Given the description of an element on the screen output the (x, y) to click on. 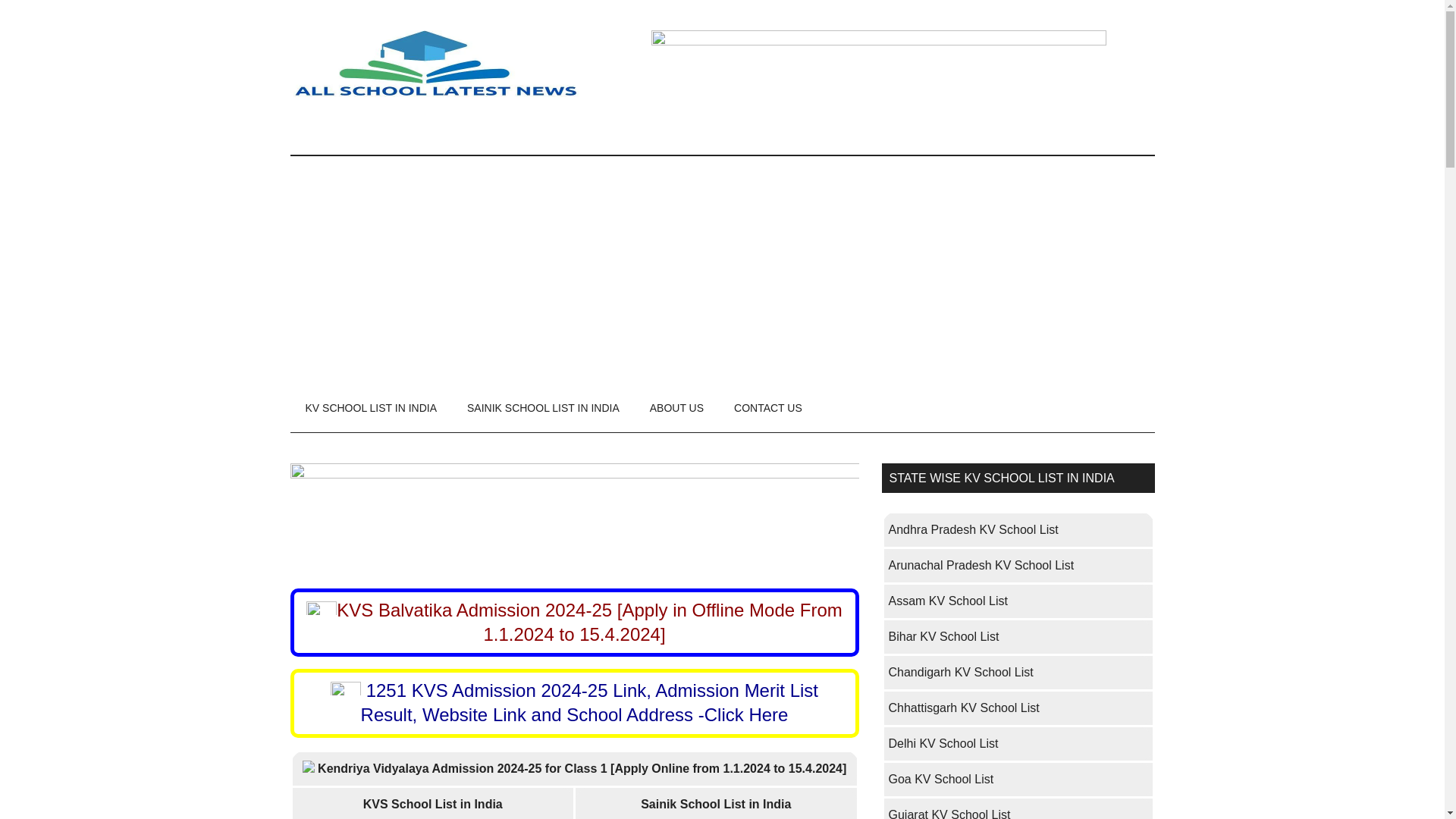
ABOUT US (676, 408)
Bihar KV School List (943, 635)
Sainik School List in India (715, 803)
Arunachal Pradesh KV School List (981, 564)
KV SCHOOL LIST IN INDIA (370, 408)
Andhra Pradesh KV School List  (975, 529)
All School Latest News (433, 64)
SAINIK SCHOOL LIST IN INDIA (542, 408)
CONTACT US (767, 408)
Assam KV School List (947, 600)
KVS School List in India (432, 803)
